Given the description of an element on the screen output the (x, y) to click on. 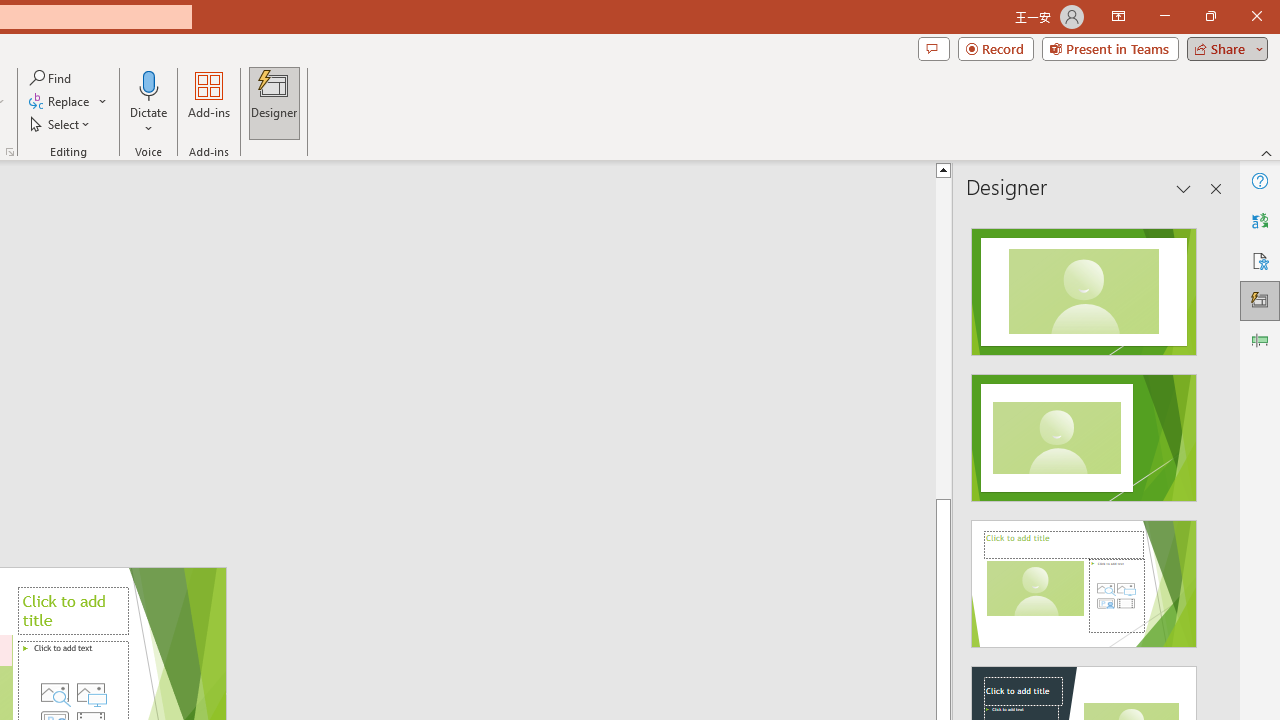
Replace... (68, 101)
Page up (1011, 337)
Dictate (149, 102)
Dictate (149, 84)
Find... (51, 78)
Translator (1260, 220)
